Given the description of an element on the screen output the (x, y) to click on. 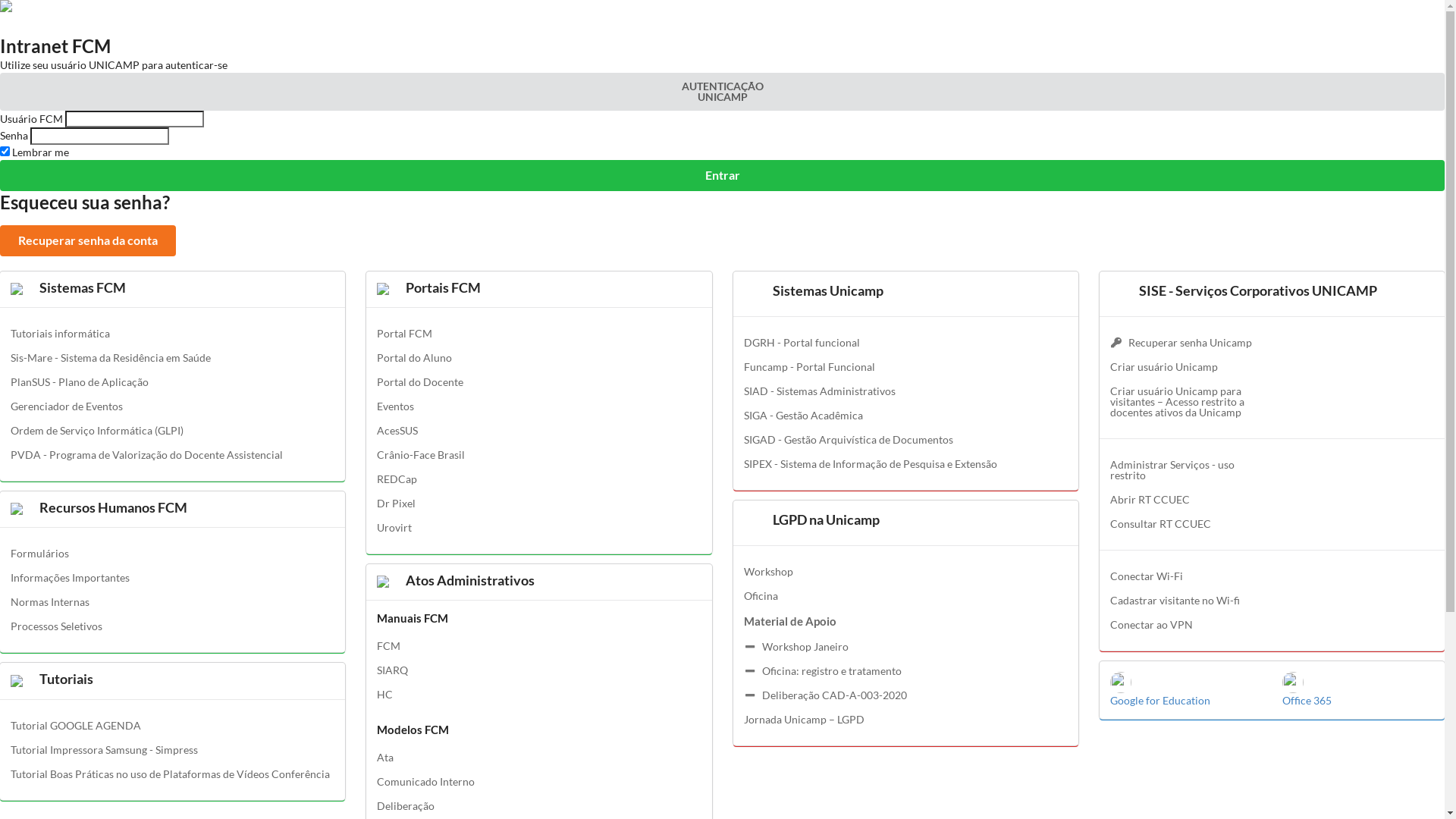
Oficina Element type: text (904, 595)
DGRH - Portal funcional Element type: text (904, 342)
Workshop Janeiro Element type: text (904, 646)
Funcamp - Portal Funcional Element type: text (904, 366)
FCM Element type: text (538, 646)
Gerenciador de Eventos Element type: text (172, 406)
Conectar Wi-Fi Element type: text (1272, 576)
Google for Education Element type: text (1185, 690)
Eventos Element type: text (538, 406)
Dr Pixel Element type: text (538, 503)
Portal FCM Element type: text (538, 333)
HC Element type: text (538, 694)
Processos Seletivos Element type: text (172, 626)
Workshop Element type: text (904, 571)
Portal do Aluno Element type: text (538, 357)
SIARQ Element type: text (538, 670)
Urovirt Element type: text (538, 527)
AcesSUS Element type: text (538, 430)
Oficina: registro e tratamento Element type: text (904, 671)
SIAD - Sistemas Administrativos Element type: text (904, 391)
Portal do Docente Element type: text (538, 382)
Consultar RT CCUEC Element type: text (1189, 523)
Comunicado Interno Element type: text (538, 781)
Cadastrar visitante no Wi-fi Element type: text (1272, 600)
Tutorial GOOGLE AGENDA Element type: text (172, 725)
Tutorial Impressora Samsung - Simpress Element type: text (172, 749)
Recuperar senha Unicamp Element type: text (1189, 342)
Ata Element type: text (538, 757)
Abrir RT CCUEC Element type: text (1189, 499)
Conectar ao VPN Element type: text (1272, 624)
Normas Internas Element type: text (172, 602)
Entrar Element type: text (722, 175)
Office 365 Element type: text (1358, 690)
Recuperar senha da conta Element type: text (87, 240)
REDCap Element type: text (538, 479)
